Given the description of an element on the screen output the (x, y) to click on. 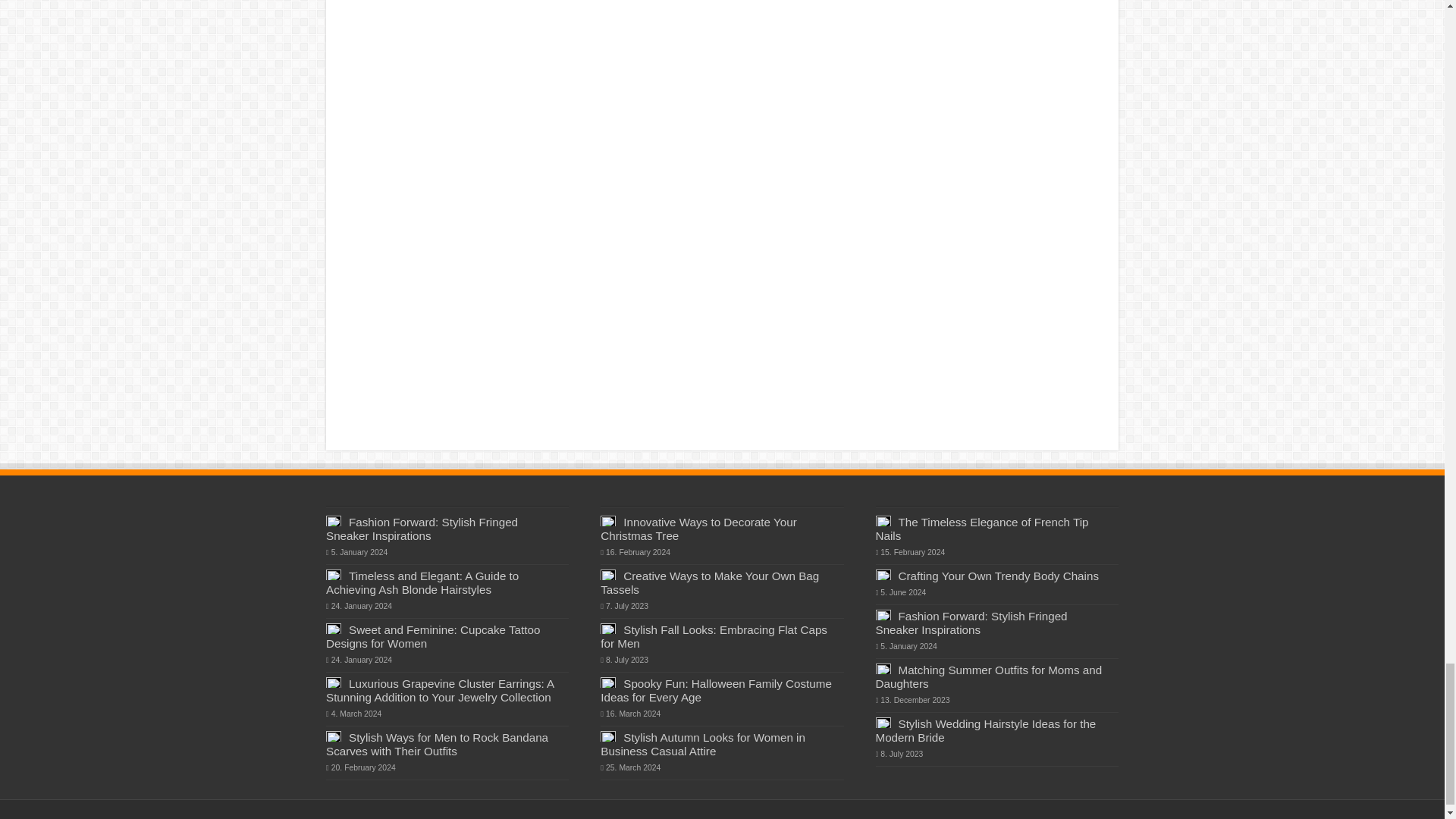
Innovative Ways to Decorate Your Christmas Tree (697, 528)
Fashion Forward: Stylish Fringed Sneaker Inspirations (422, 528)
Sweet and Feminine: Cupcake Tattoo Designs for Women (433, 636)
